Given the description of an element on the screen output the (x, y) to click on. 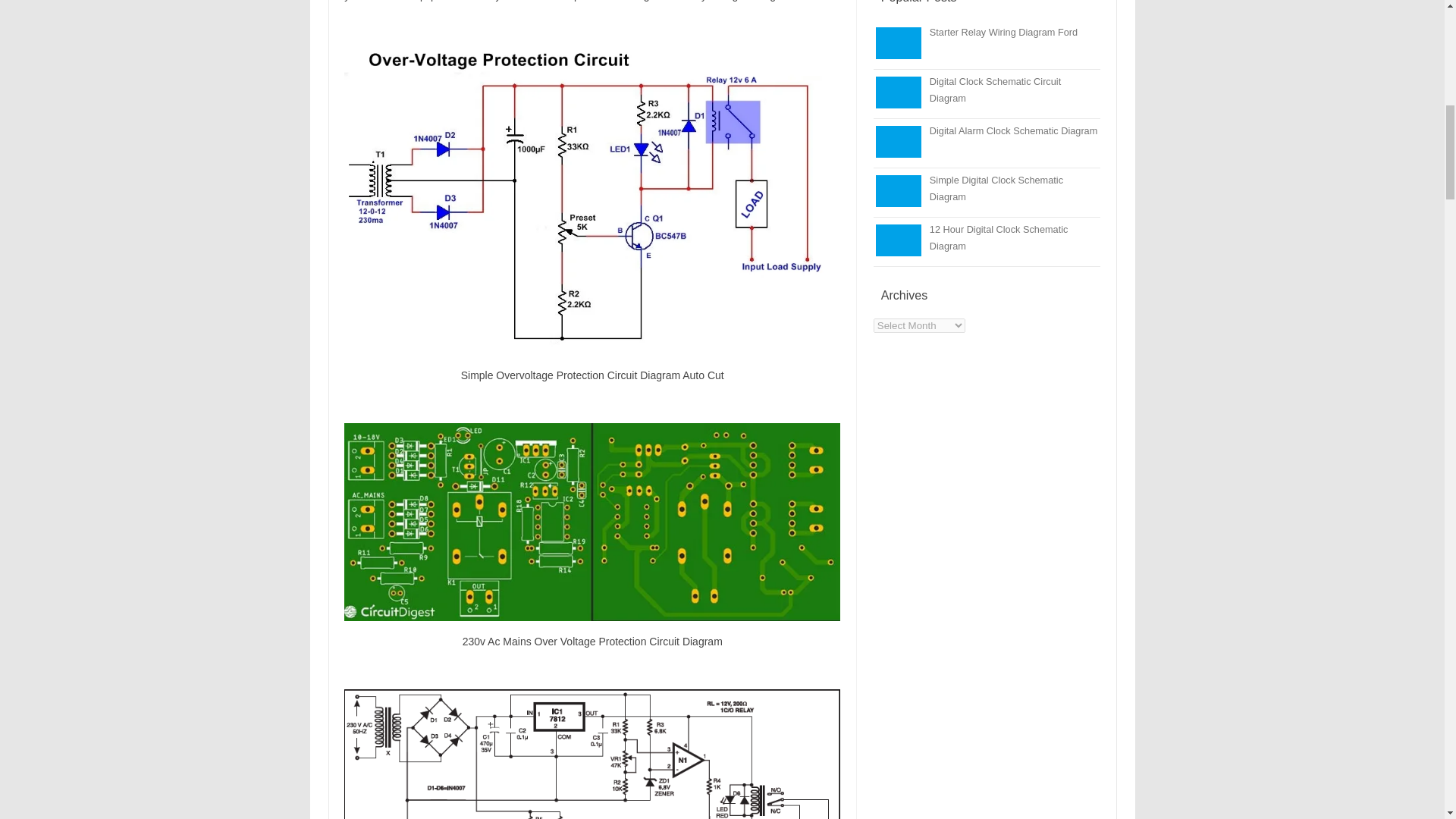
Under Over Voltage Protection Of Electrical Appliances (591, 754)
230v Ac Mains Over Voltage Protection Circuit Diagram (591, 521)
Digital Clock Schematic Circuit Diagram (995, 90)
Digital Alarm Clock Schematic Diagram (1013, 130)
Simple Digital Clock Schematic Diagram (996, 188)
Starter Relay Wiring Diagram Ford (1003, 31)
12 Hour Digital Clock Schematic Diagram (999, 237)
